Given the description of an element on the screen output the (x, y) to click on. 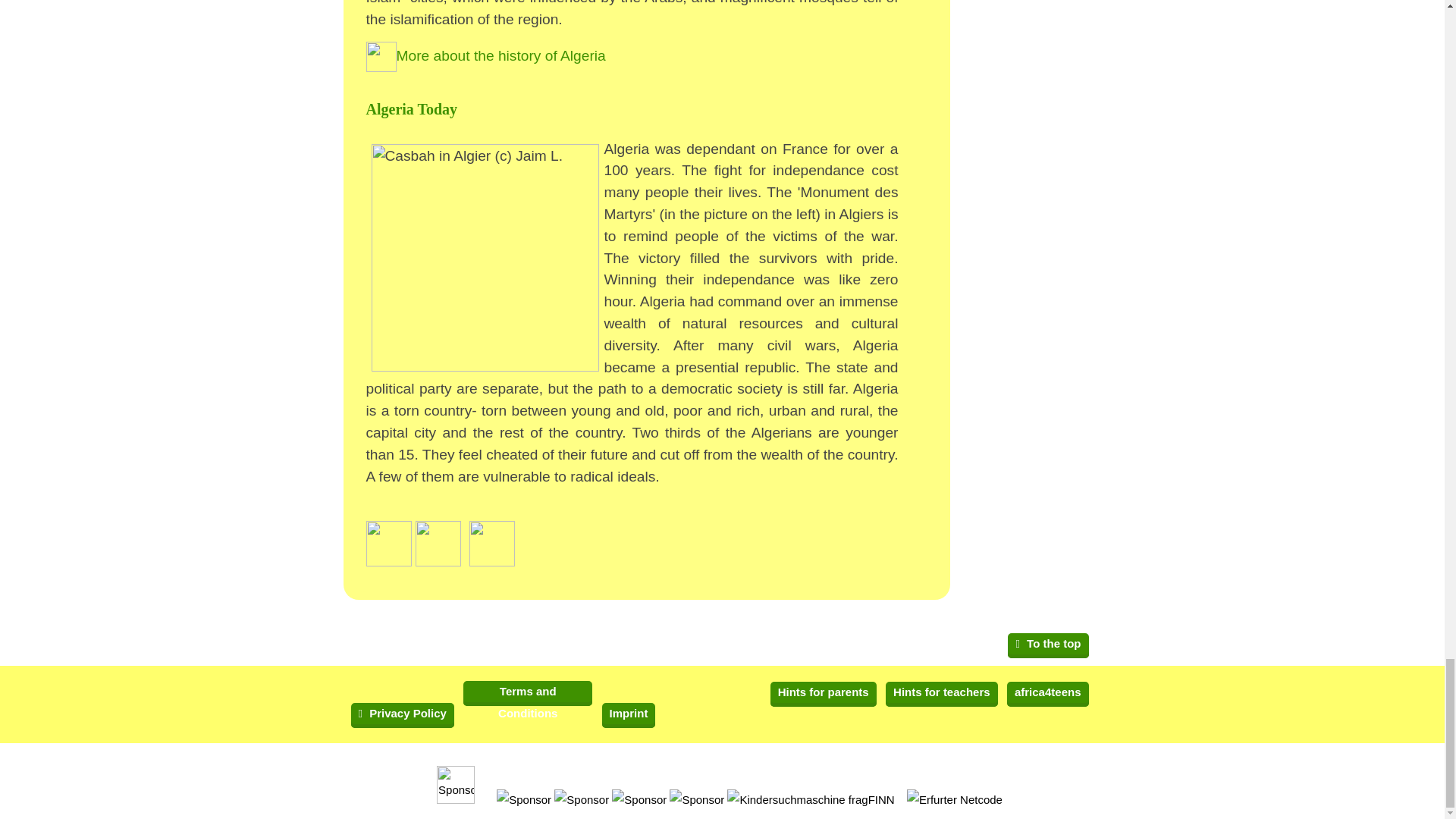
More about the history of Algeria (485, 55)
